Given the description of an element on the screen output the (x, y) to click on. 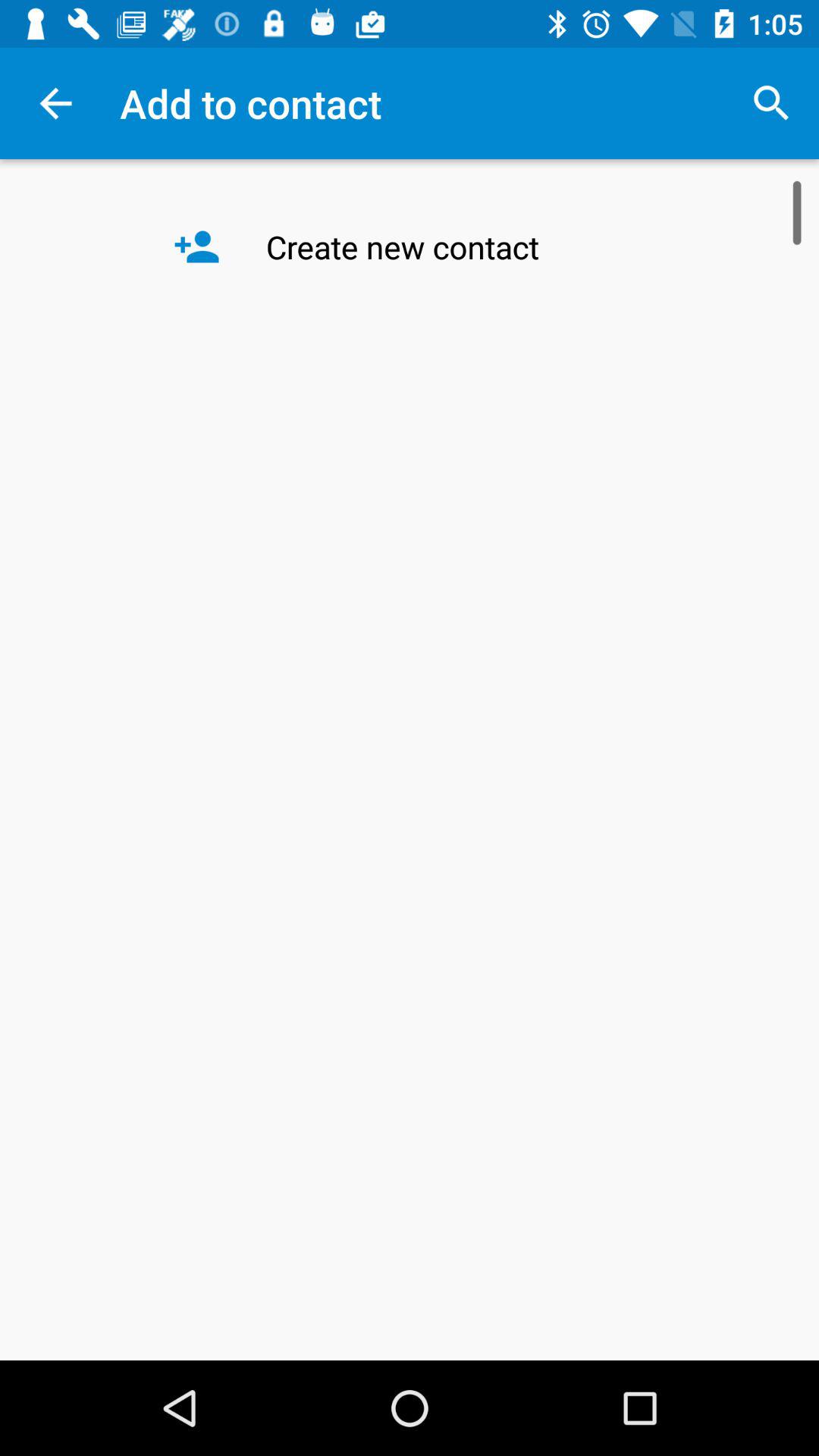
click icon to the right of the add to contact icon (771, 103)
